Given the description of an element on the screen output the (x, y) to click on. 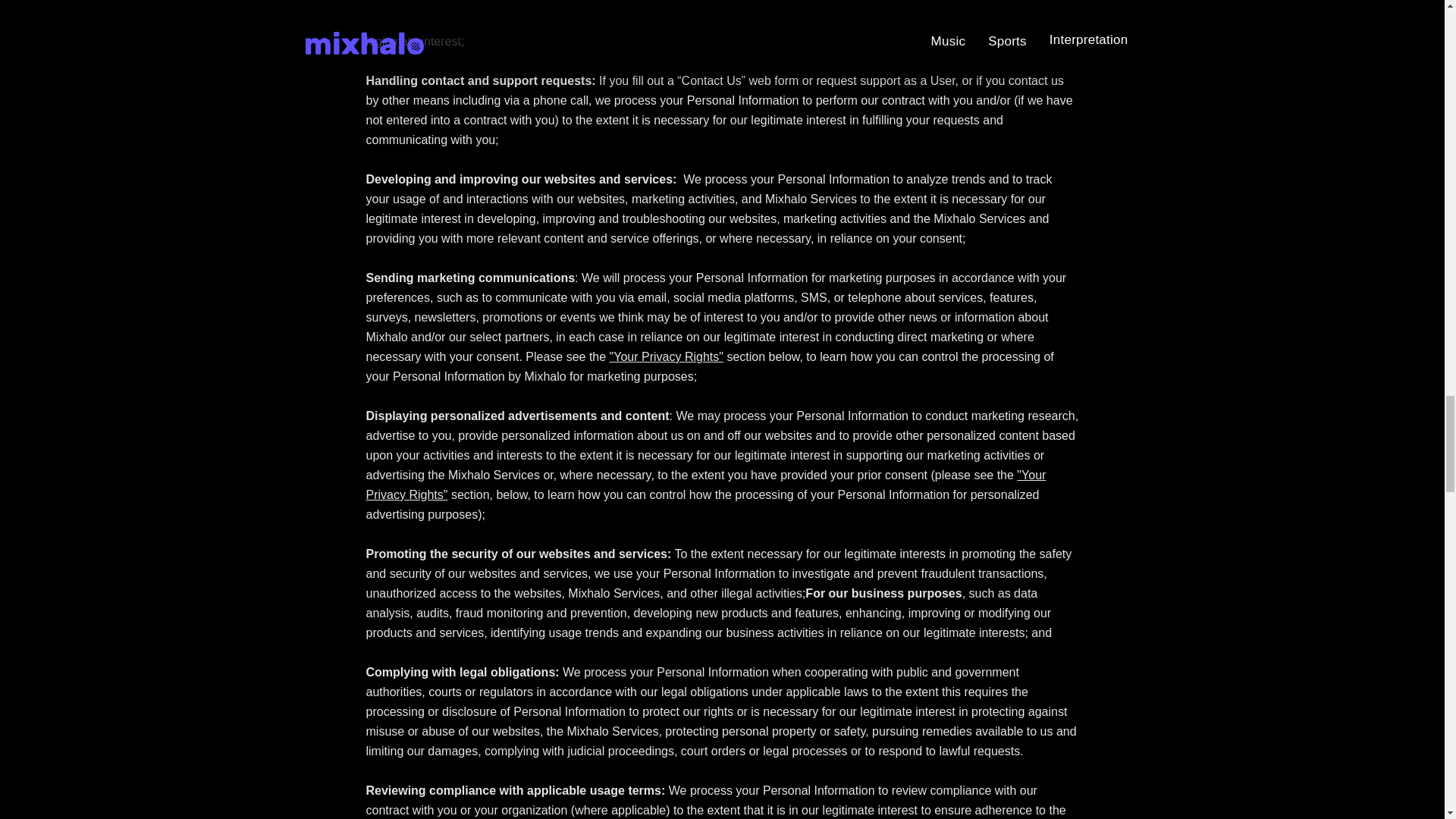
"Your Privacy Rights" (666, 356)
"Your Privacy Rights" (705, 484)
